Given the description of an element on the screen output the (x, y) to click on. 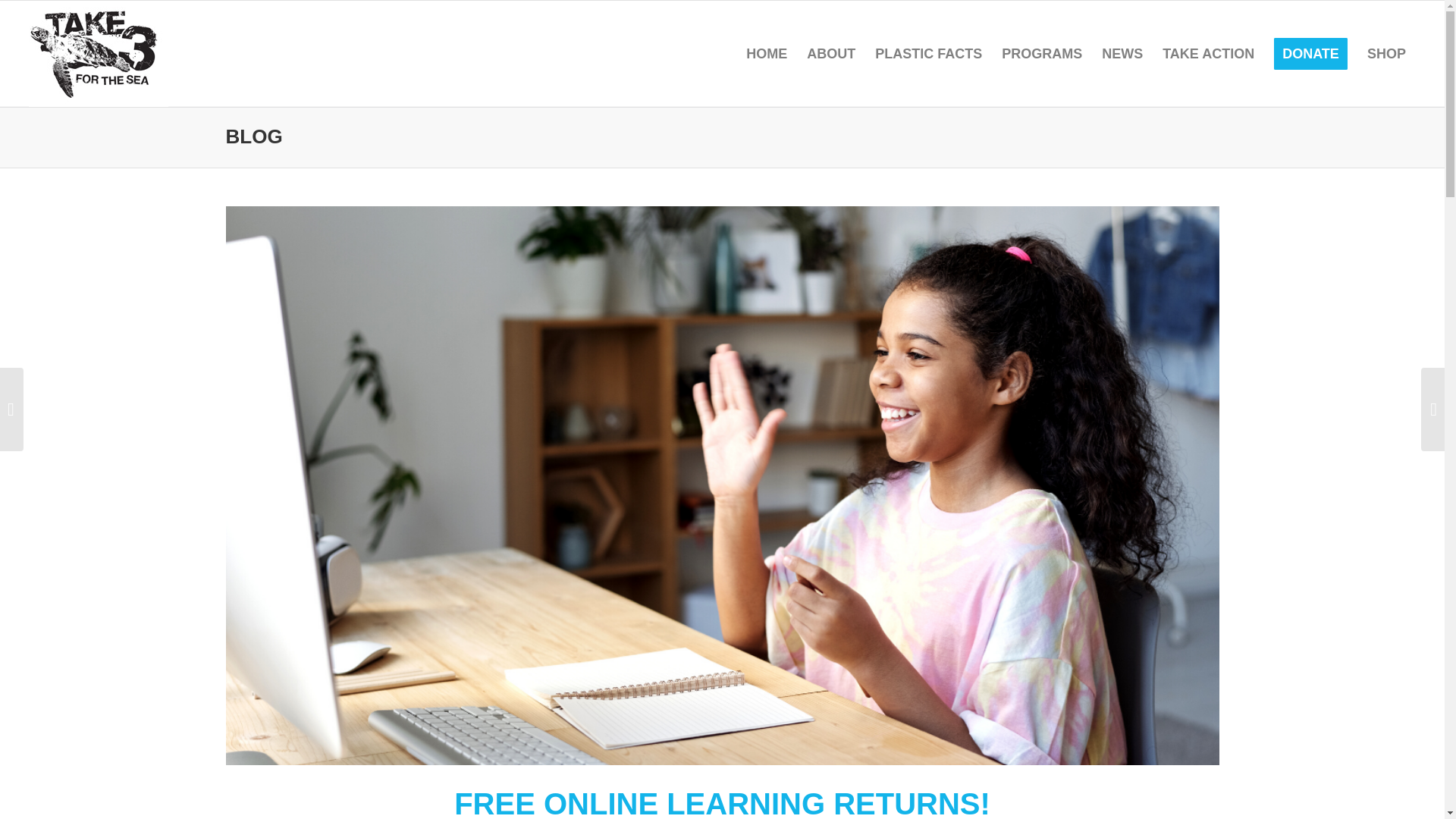
take3-3 (98, 53)
PROGRAMS (1041, 53)
BLOG (253, 136)
TAKE ACTION (1208, 53)
PLASTIC FACTS (927, 53)
Permanent Link: Blog (253, 136)
